Given the description of an element on the screen output the (x, y) to click on. 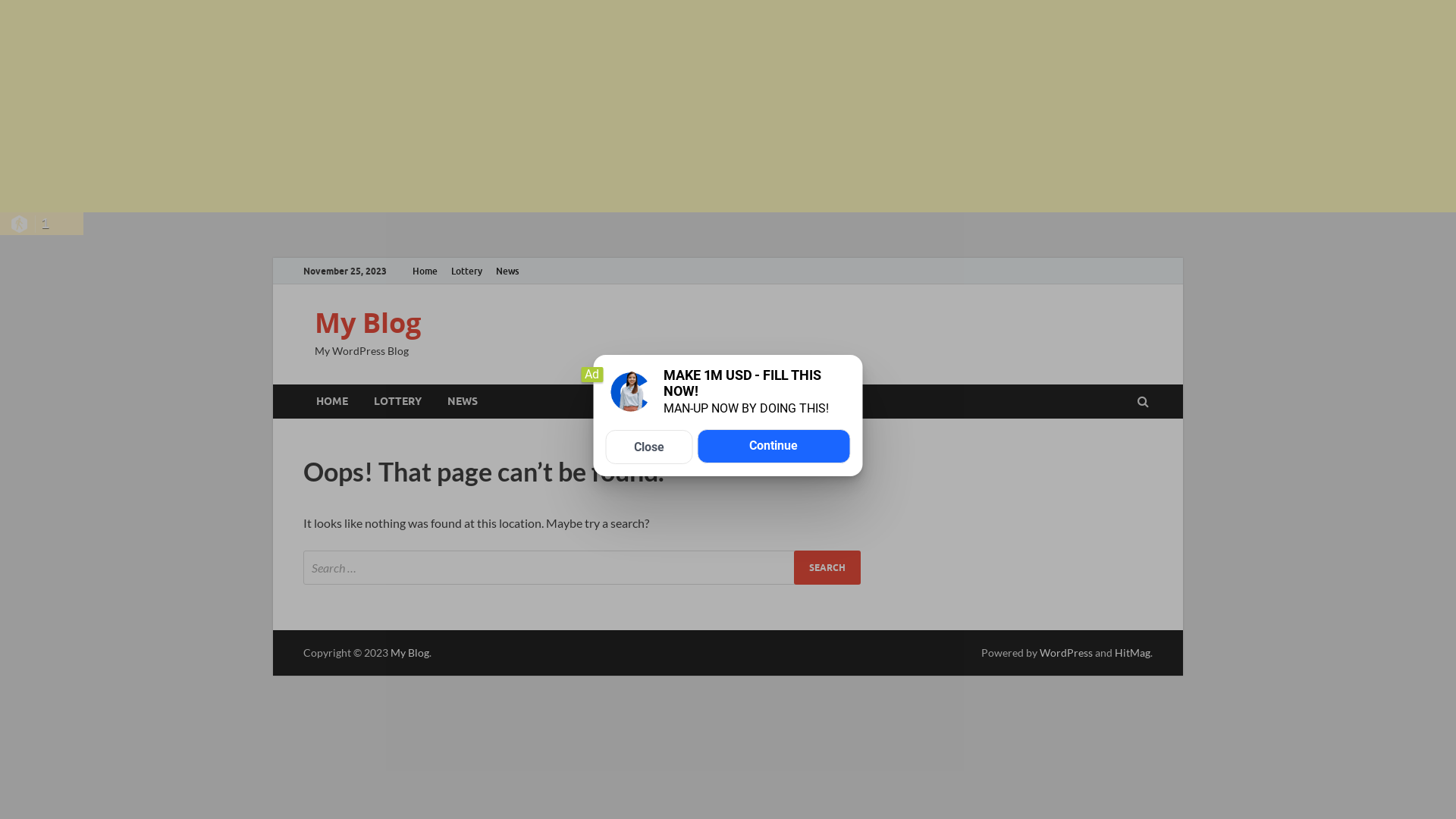
My Blog Element type: text (409, 652)
WordPress Element type: text (1065, 652)
My Blog Element type: text (367, 322)
LOTTERY Element type: text (397, 401)
HOME Element type: text (331, 401)
HitMag Element type: text (1132, 652)
News Element type: text (507, 270)
Search Element type: text (826, 567)
Advertisement Element type: hover (455, 106)
Lottery Element type: text (466, 270)
Home Element type: text (424, 270)
NEWS Element type: text (462, 401)
1 Element type: text (41, 223)
